Given the description of an element on the screen output the (x, y) to click on. 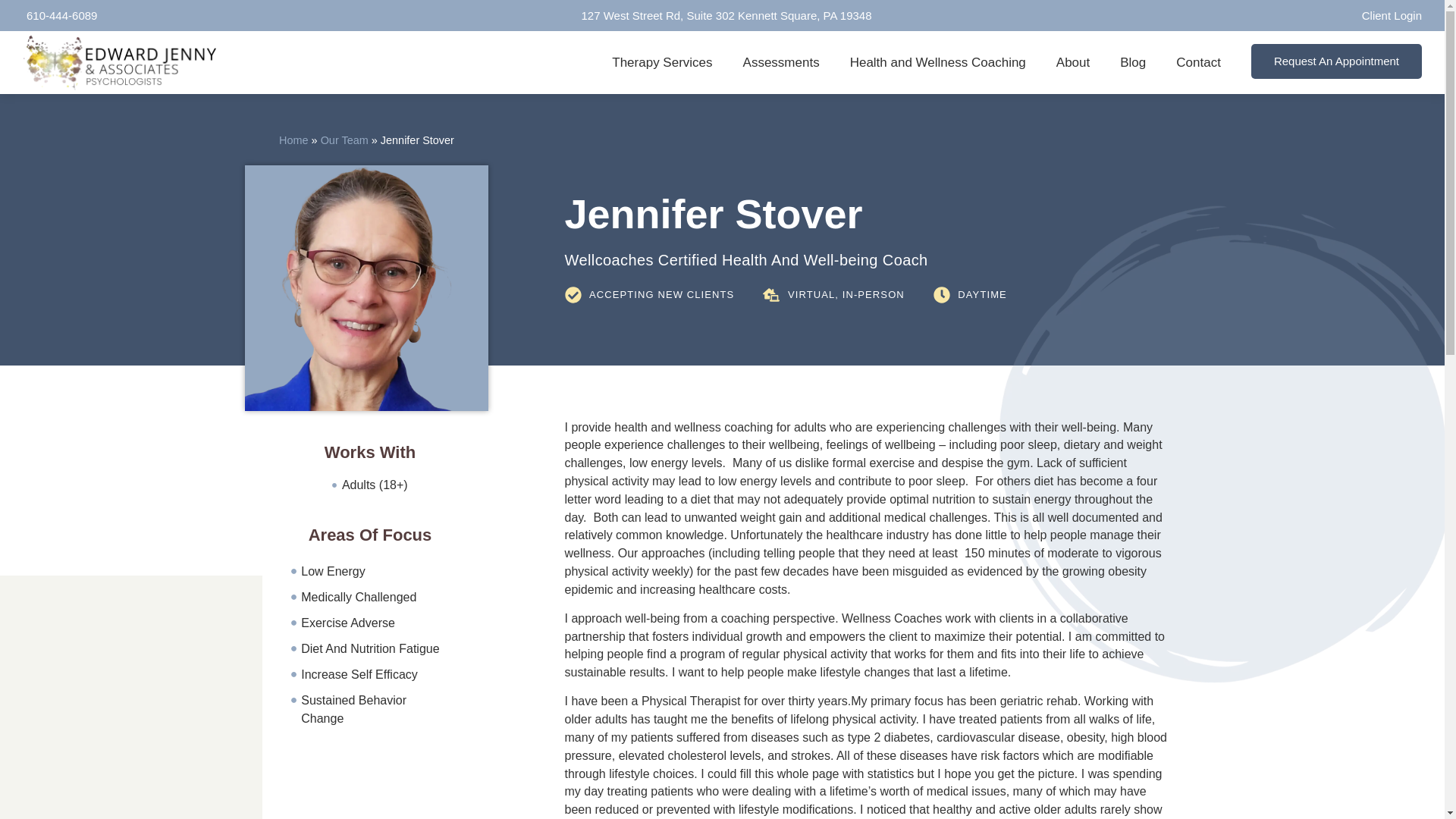
About (1073, 62)
Health and Wellness Coaching (937, 62)
Client Login (1390, 15)
610-444-6089 (60, 15)
127 West Street Rd, Suite 302 Kennett Square, PA 19348 (725, 15)
Assessments (781, 62)
Contact (1198, 62)
Therapy Services (661, 62)
Blog (1132, 62)
